Given the description of an element on the screen output the (x, y) to click on. 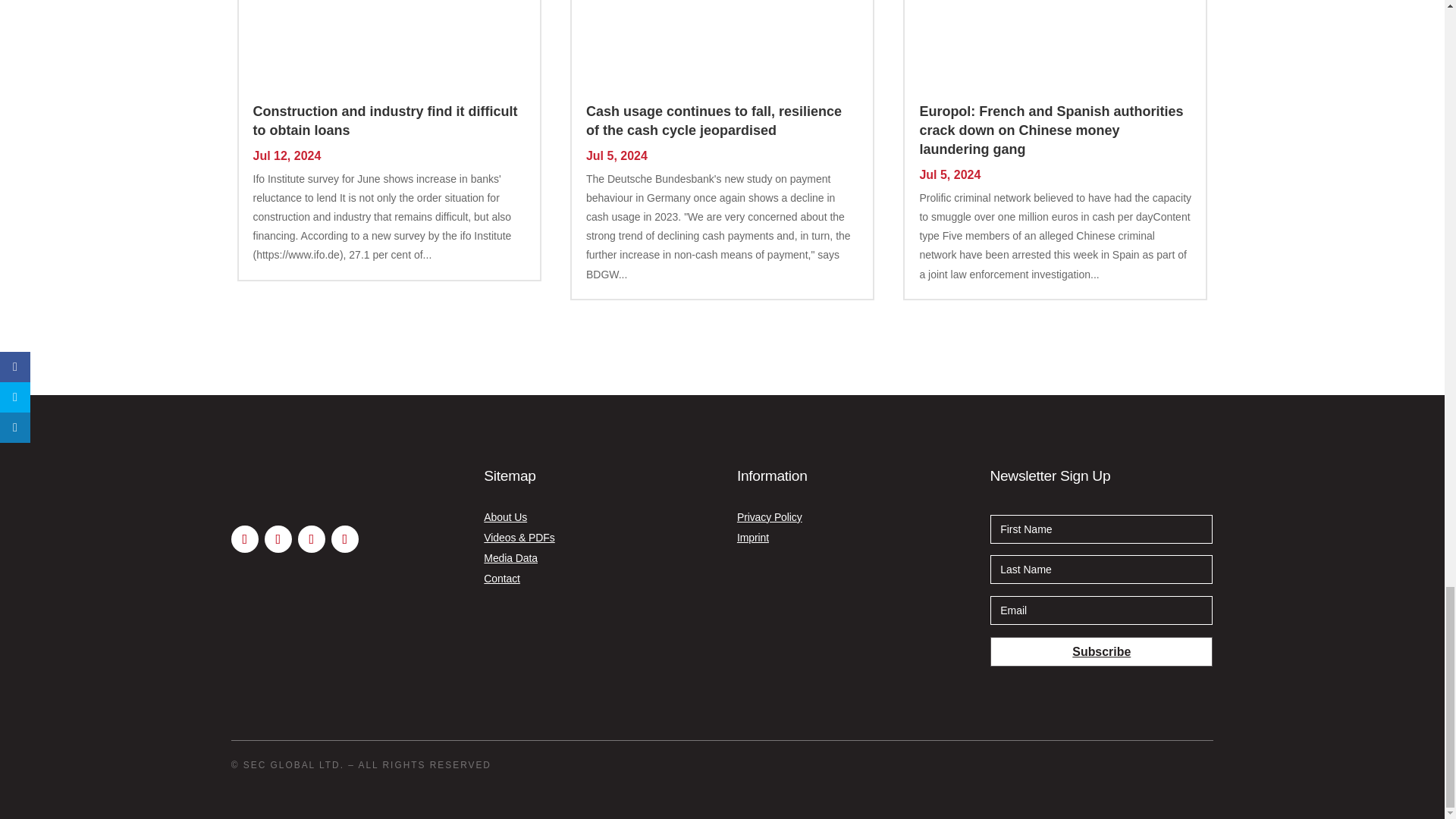
Follow on Youtube (245, 538)
Follow on LinkedIn (311, 538)
Follow on Instagram (344, 538)
eurosecurity-logo-big-white (304, 482)
Follow on X (278, 538)
